Given the description of an element on the screen output the (x, y) to click on. 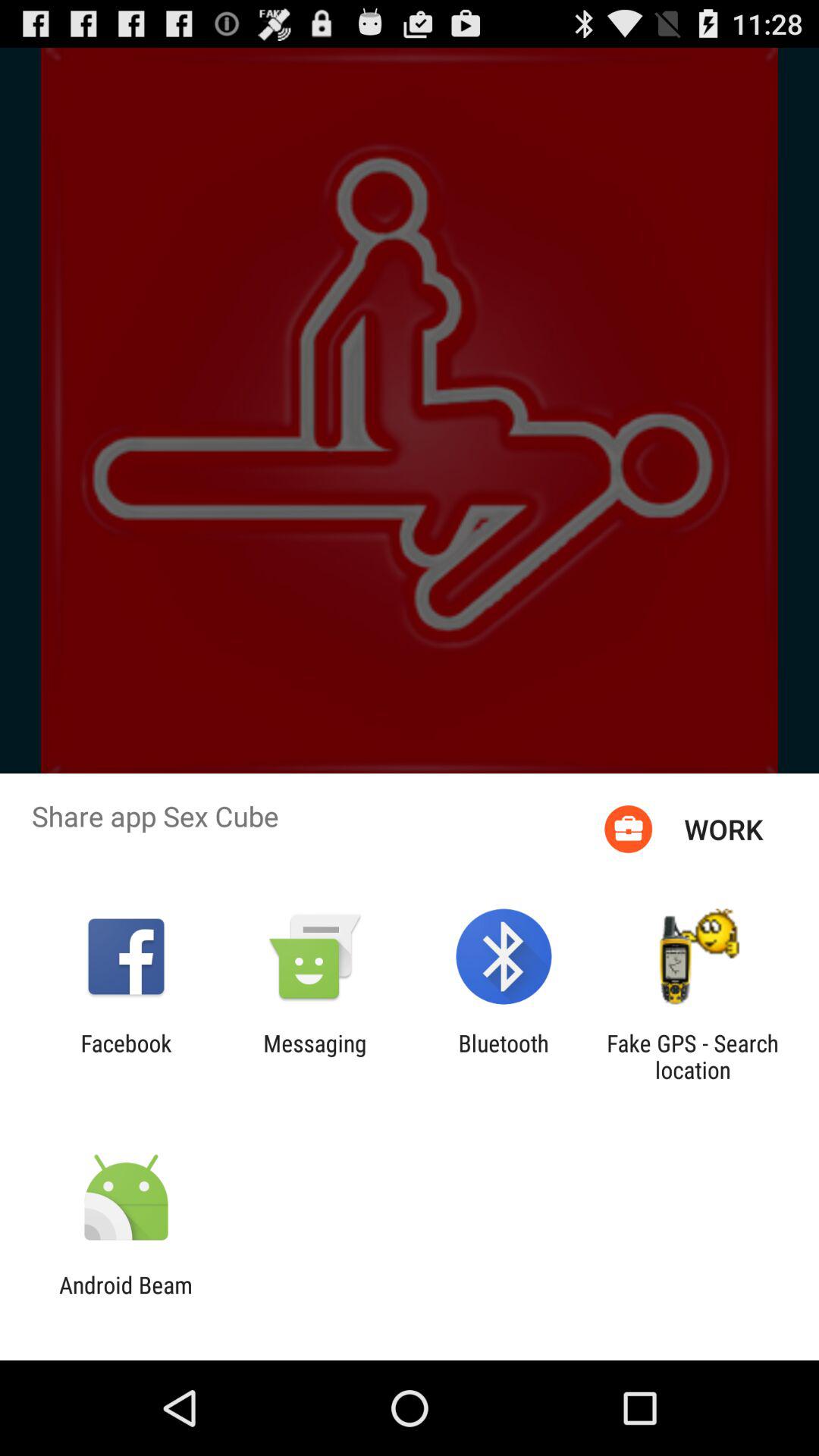
select the facebook icon (125, 1056)
